Given the description of an element on the screen output the (x, y) to click on. 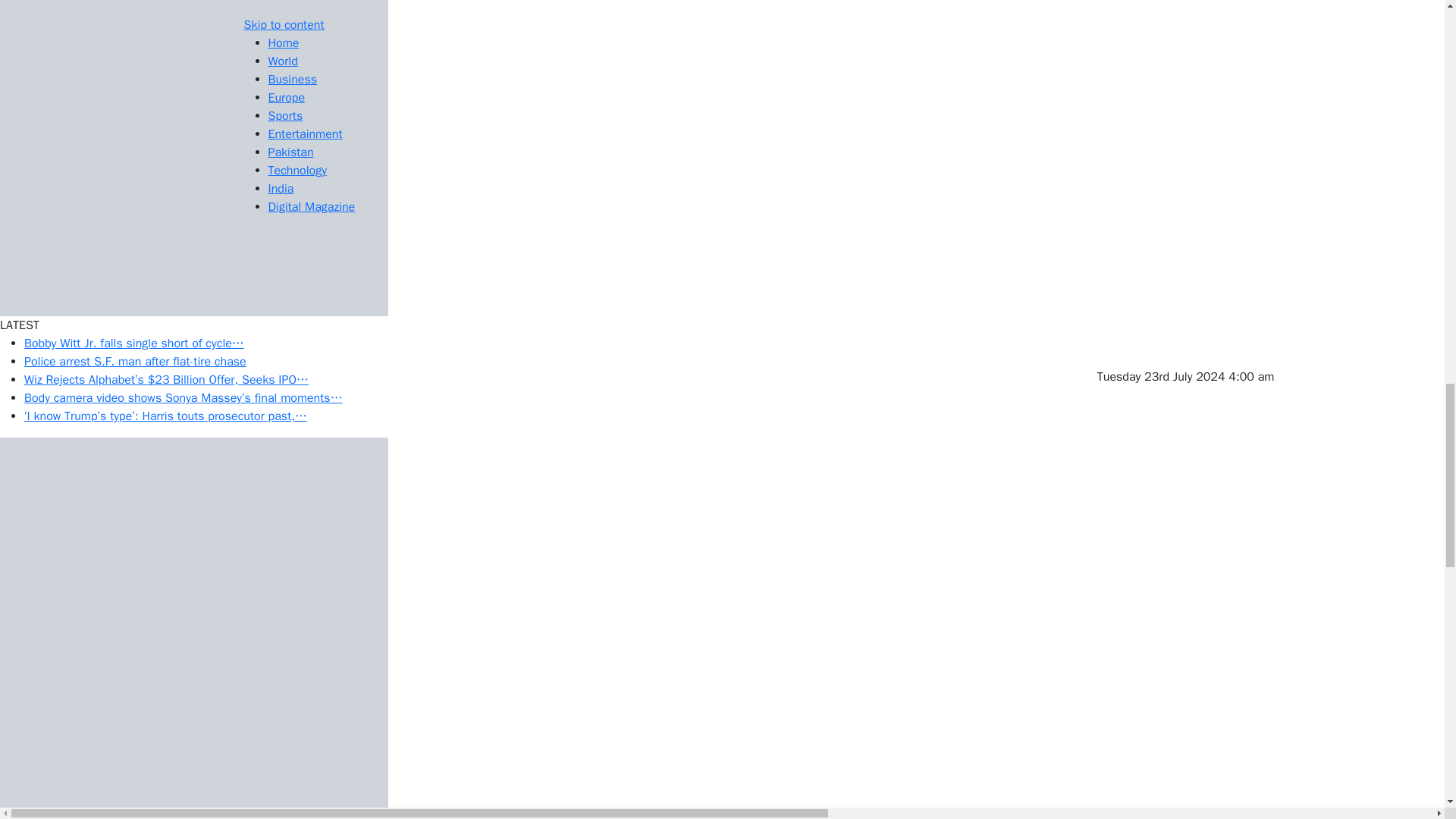
Technology (296, 170)
Business (292, 79)
Entertainment (304, 133)
Europe (286, 97)
Digital Magazine (311, 206)
Home (283, 43)
Pakistan (290, 151)
Skip to content (284, 24)
India (280, 188)
Police arrest S.F. man after flat-tire chase (135, 361)
World (282, 61)
Sports (284, 115)
Skip to content (284, 24)
